Given the description of an element on the screen output the (x, y) to click on. 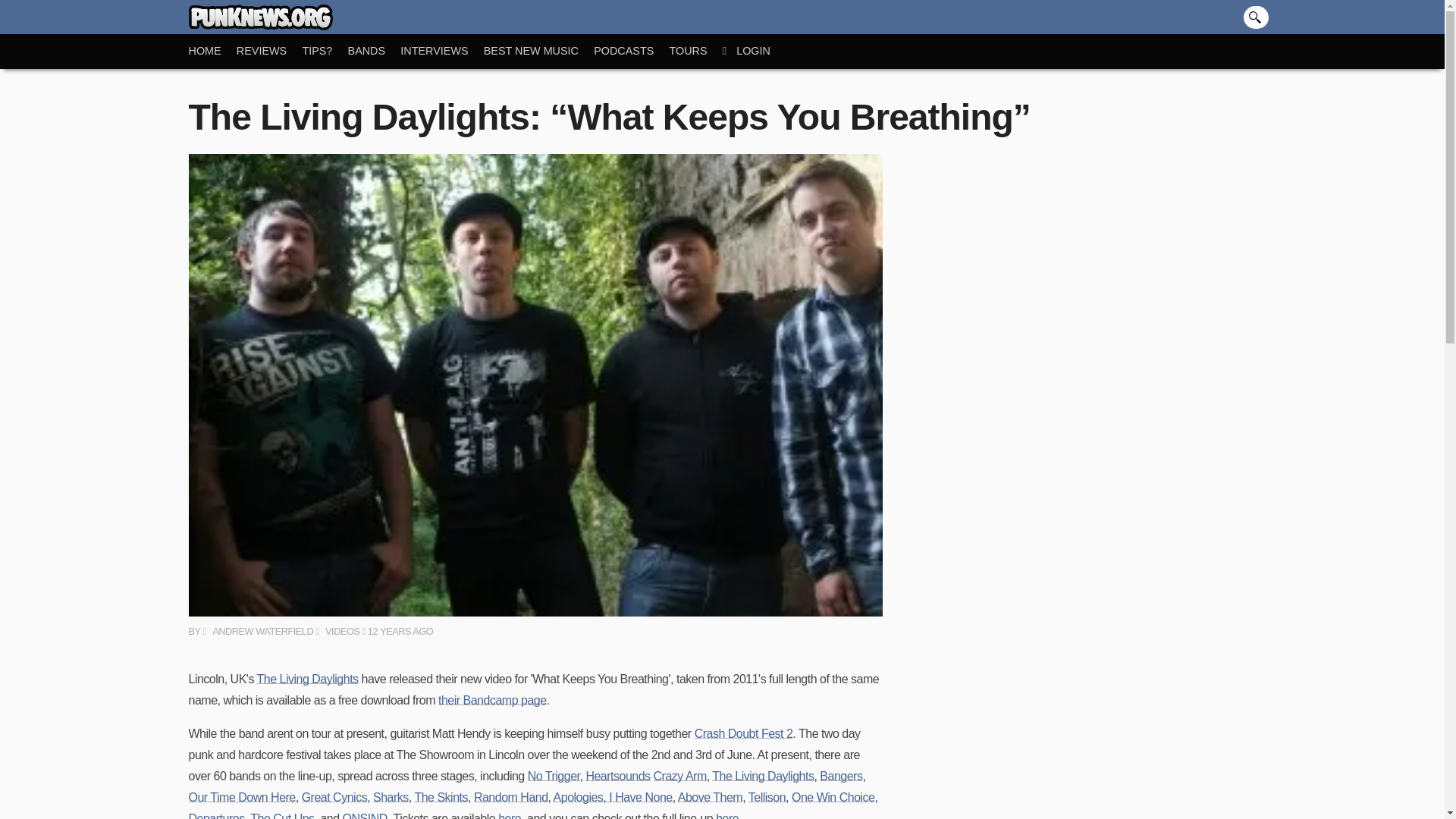
One Win Choice (833, 797)
INTERVIEWS (441, 50)
their Bandcamp page (492, 699)
Bangers (840, 775)
The Living Daylights (762, 775)
ANDREW WATERFIELD (257, 631)
The Cut Ups (282, 815)
No Trigger (553, 775)
Browse through thousands of band profiles (374, 50)
Our Time Down Here (241, 797)
